Given the description of an element on the screen output the (x, y) to click on. 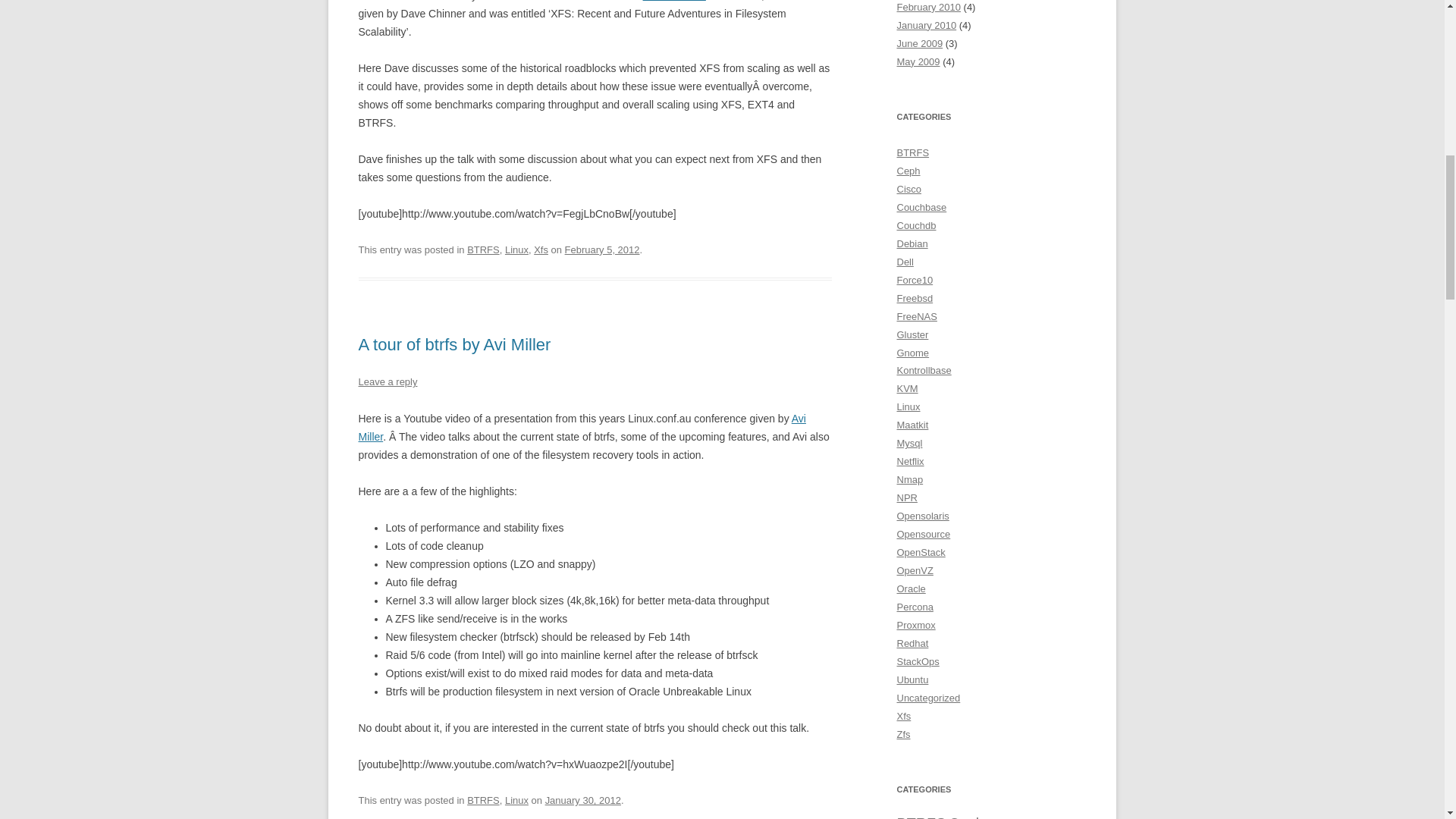
Xfs (541, 249)
Leave a reply (387, 381)
am (581, 427)
A tour of btrfs by Avi Miller (454, 343)
Linux (516, 249)
Linux (516, 799)
8:34 pm (602, 249)
Linux.conf.au (674, 0)
BTRFS (483, 249)
January 30, 2012 (582, 799)
